Given the description of an element on the screen output the (x, y) to click on. 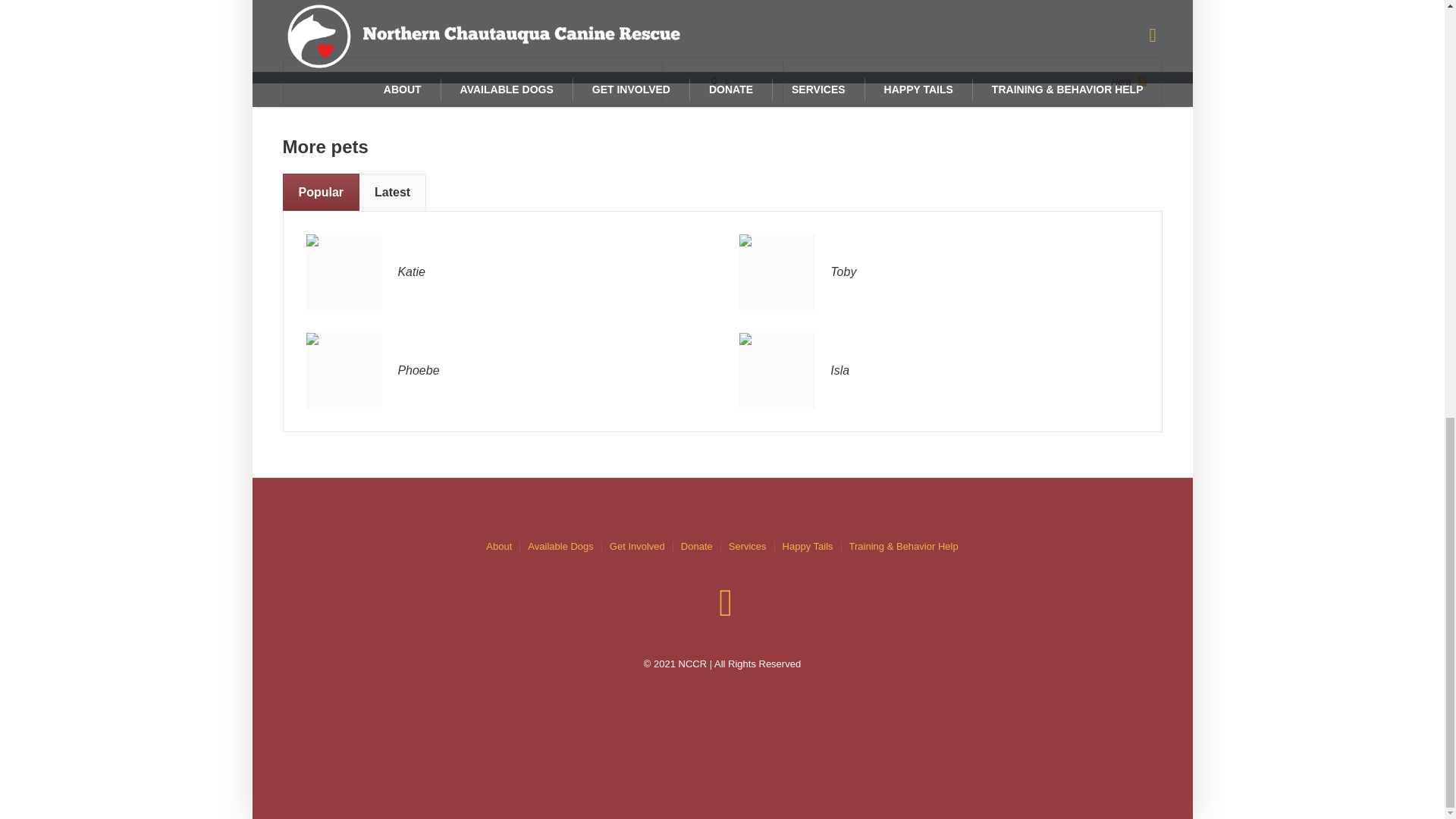
Toby (842, 271)
Phoebe (343, 369)
Phoebe (418, 369)
Katie (343, 270)
Toby (777, 272)
Phoebe (343, 370)
Katie (411, 271)
Toby (777, 270)
Katie (343, 272)
Isla (777, 369)
